Given the description of an element on the screen output the (x, y) to click on. 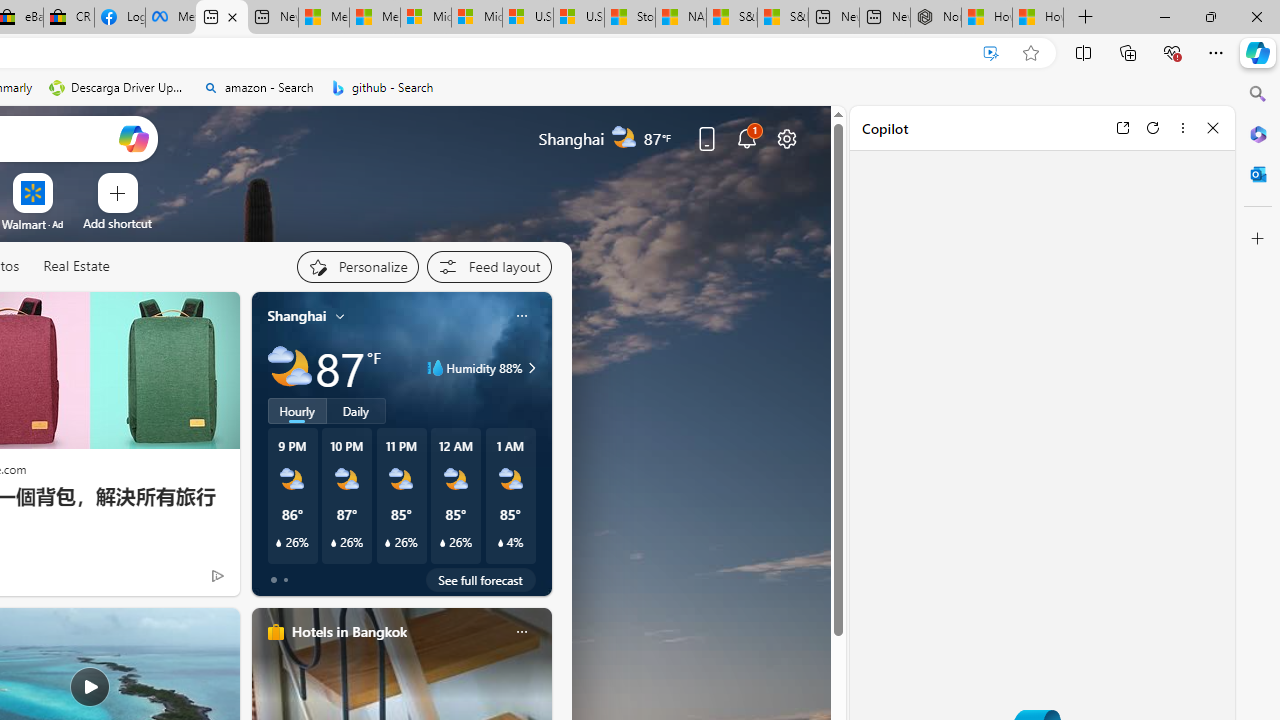
Hotels in Bangkok (348, 631)
Close (1213, 127)
Collections (1128, 52)
Ad (58, 224)
Microsoft 365 (1258, 133)
My location (340, 315)
Feed settings (488, 266)
Add a site (117, 223)
Enhance video (991, 53)
Log into Facebook (119, 17)
tab-1 (285, 579)
